Given the description of an element on the screen output the (x, y) to click on. 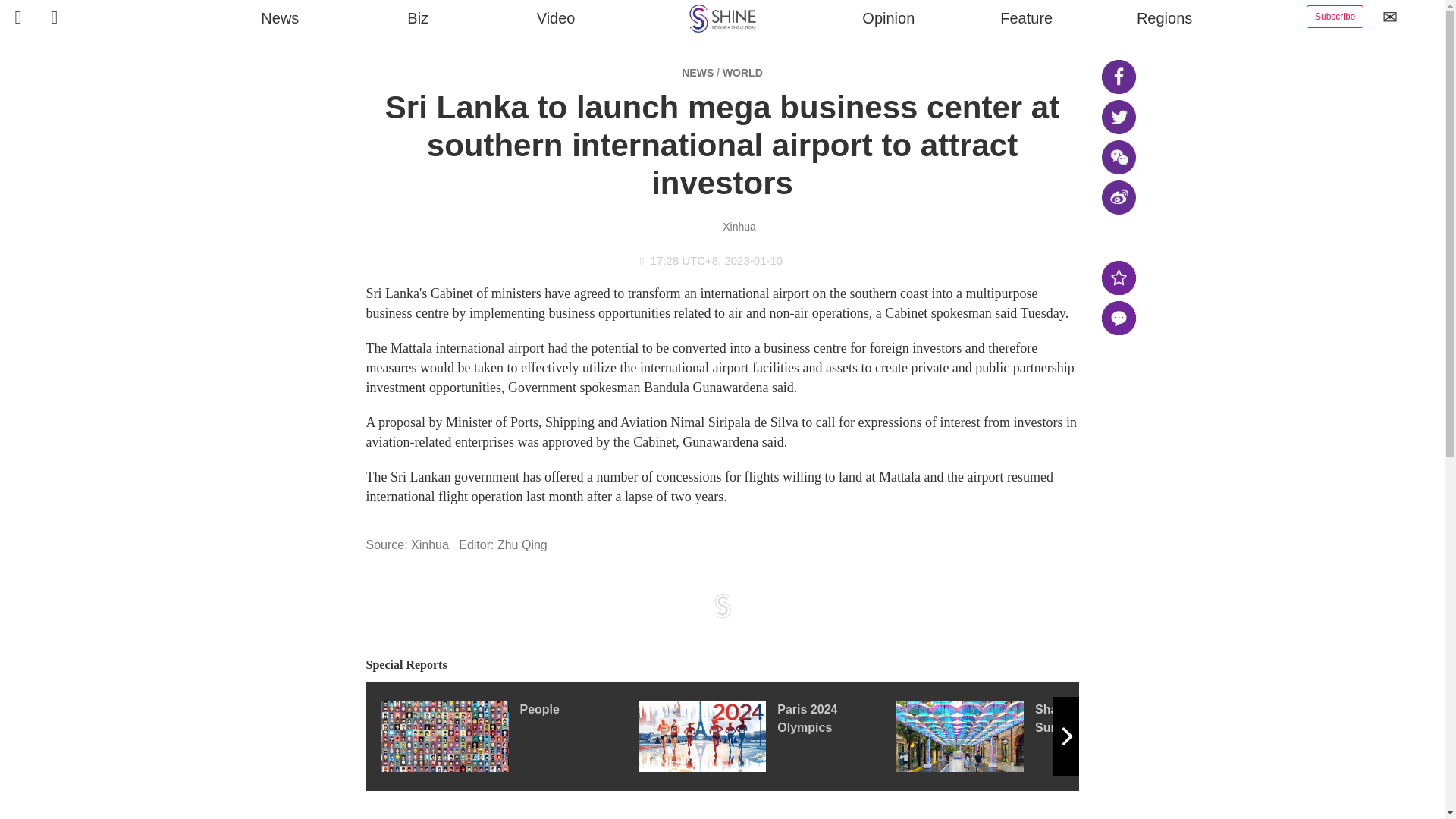
NEWS (697, 72)
Shanghai Summer (1024, 736)
Share via email (1117, 237)
People (508, 736)
Add to favorites (1117, 277)
WORLD (742, 72)
Share your comments (1117, 317)
Special Reports (721, 665)
Paris 2024 Olympics (767, 736)
